Given the description of an element on the screen output the (x, y) to click on. 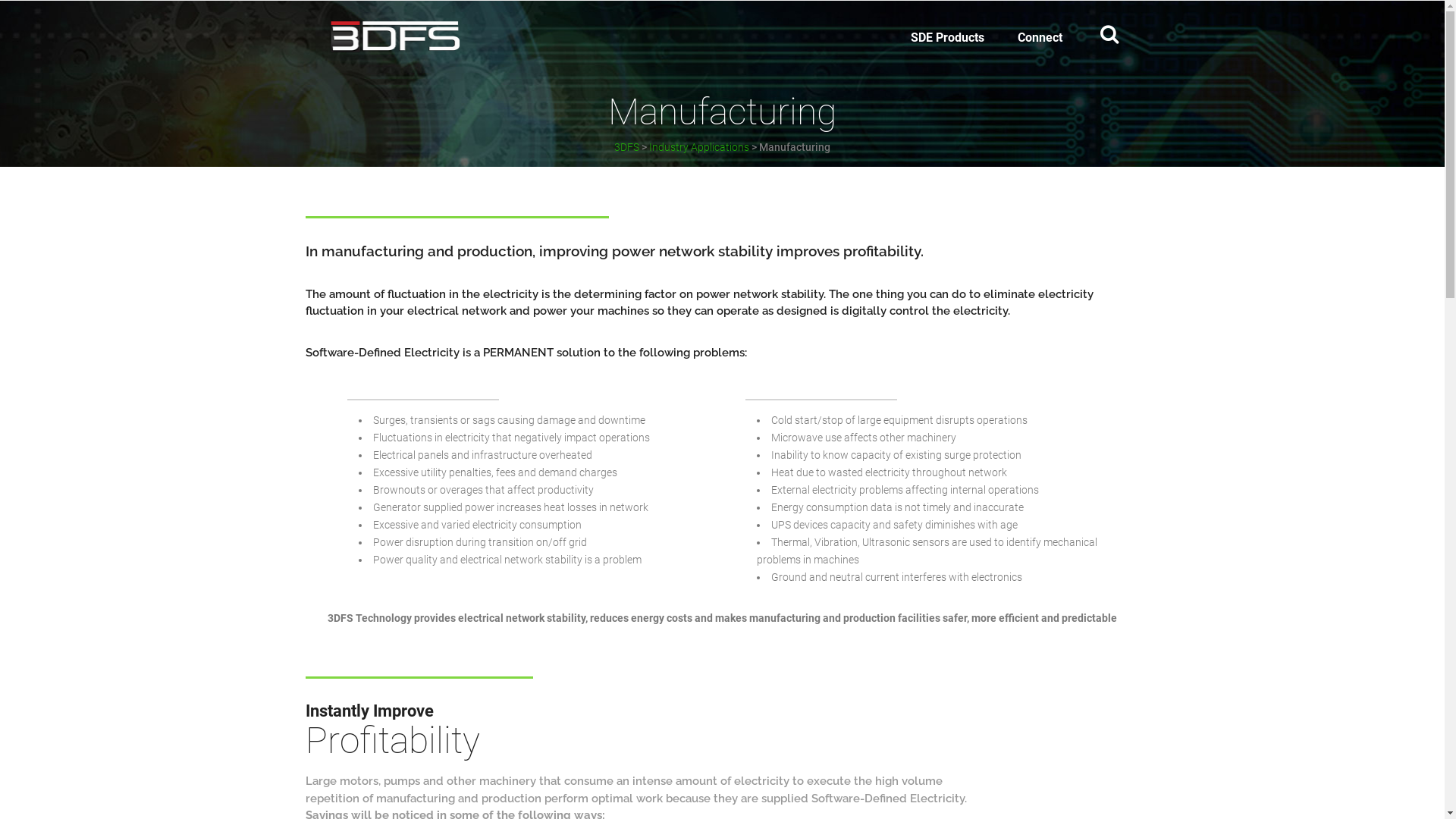
Connect Element type: text (1039, 37)
SDE Products Element type: text (946, 37)
3DFS Element type: text (626, 147)
Industry Applications Element type: text (699, 147)
